Given the description of an element on the screen output the (x, y) to click on. 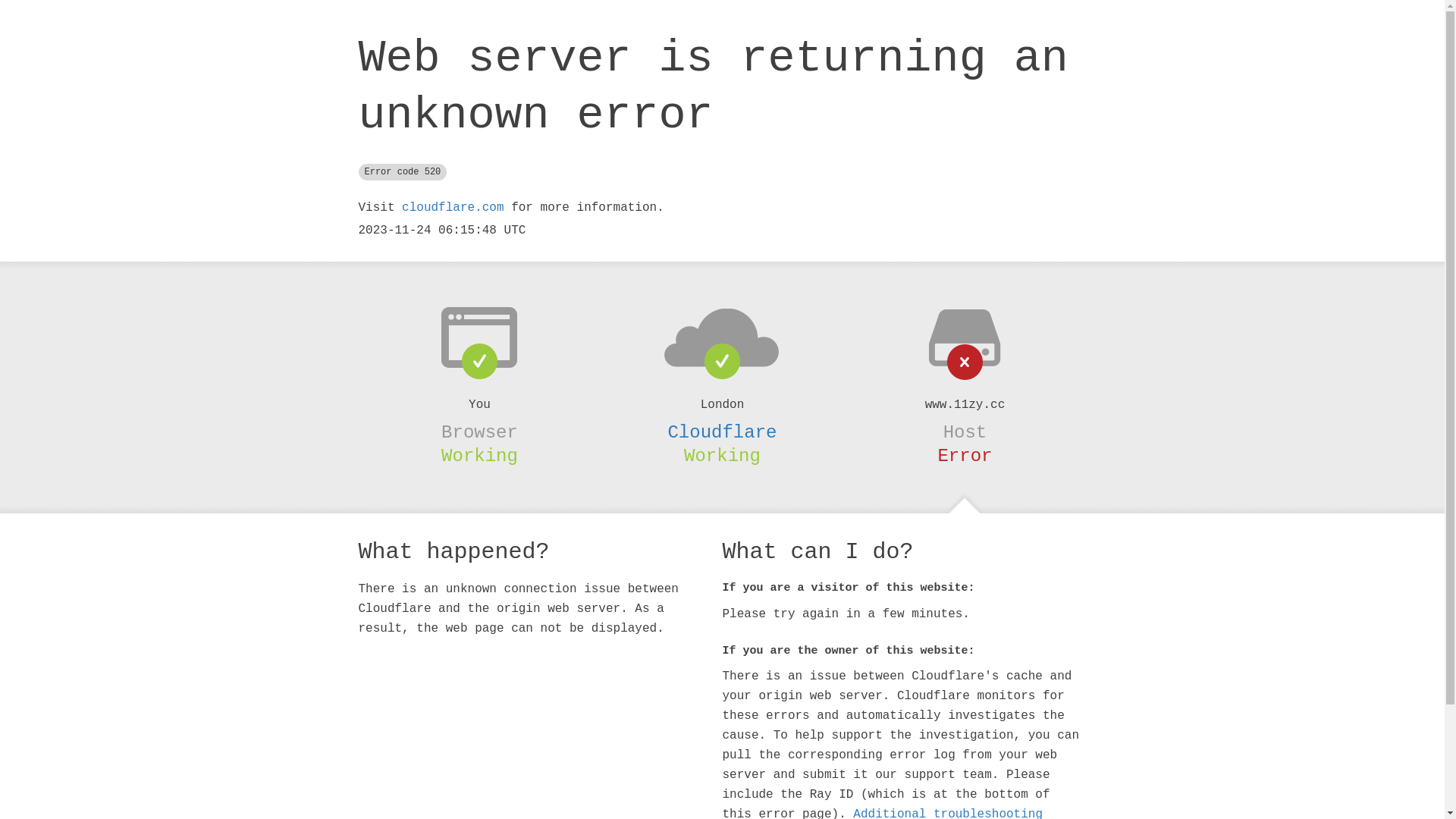
cloudflare.com Element type: text (452, 207)
Cloudflare Element type: text (721, 432)
